Given the description of an element on the screen output the (x, y) to click on. 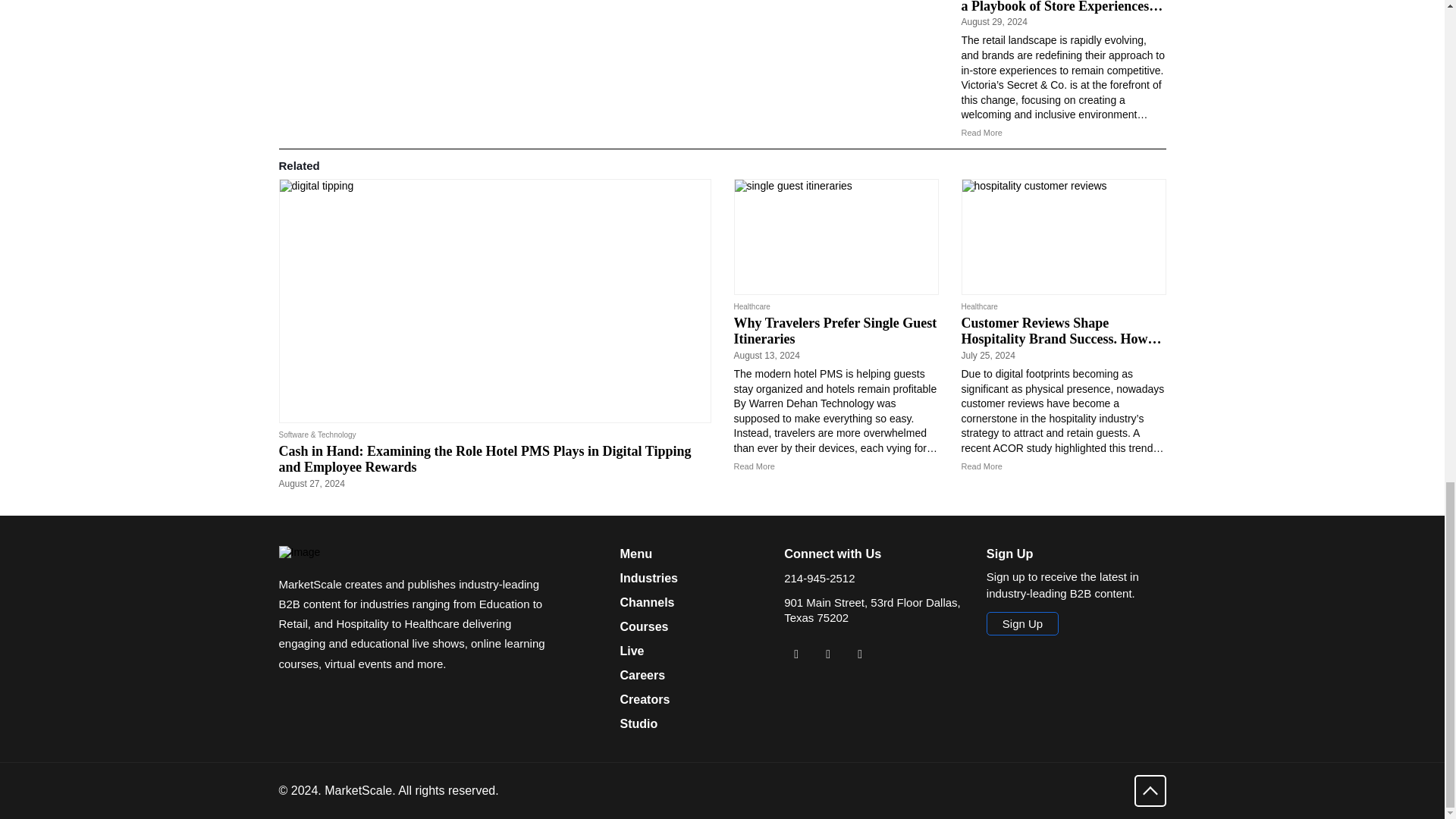
Share on Linkedin (796, 654)
Share on X (827, 654)
Share on Instagram (859, 654)
